Given the description of an element on the screen output the (x, y) to click on. 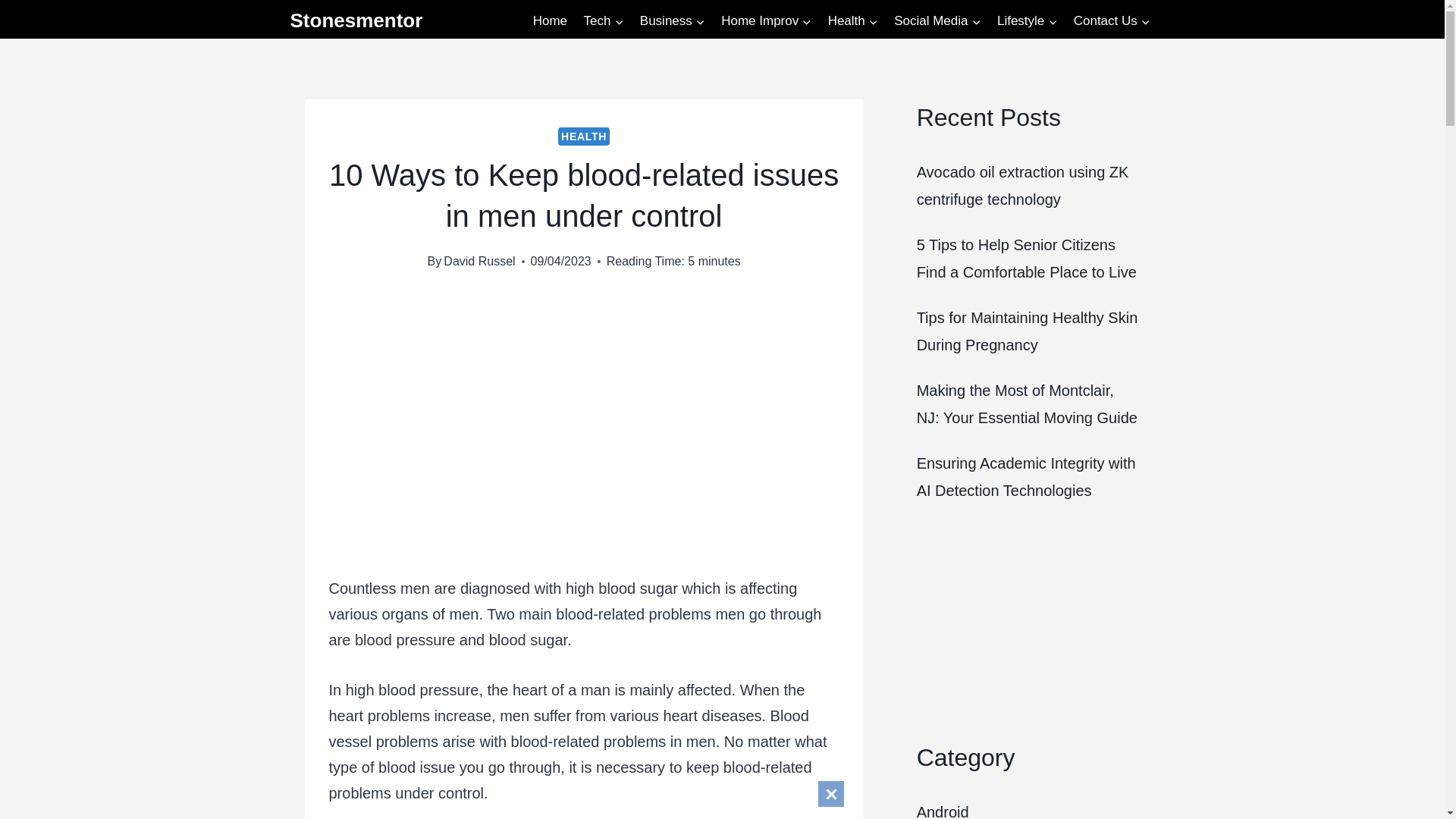
Home (549, 21)
Business (672, 21)
Tech (603, 21)
Home Improv (765, 21)
Lifestyle (1026, 21)
Social Media (936, 21)
Health (852, 21)
Stonesmentor (355, 20)
